Given the description of an element on the screen output the (x, y) to click on. 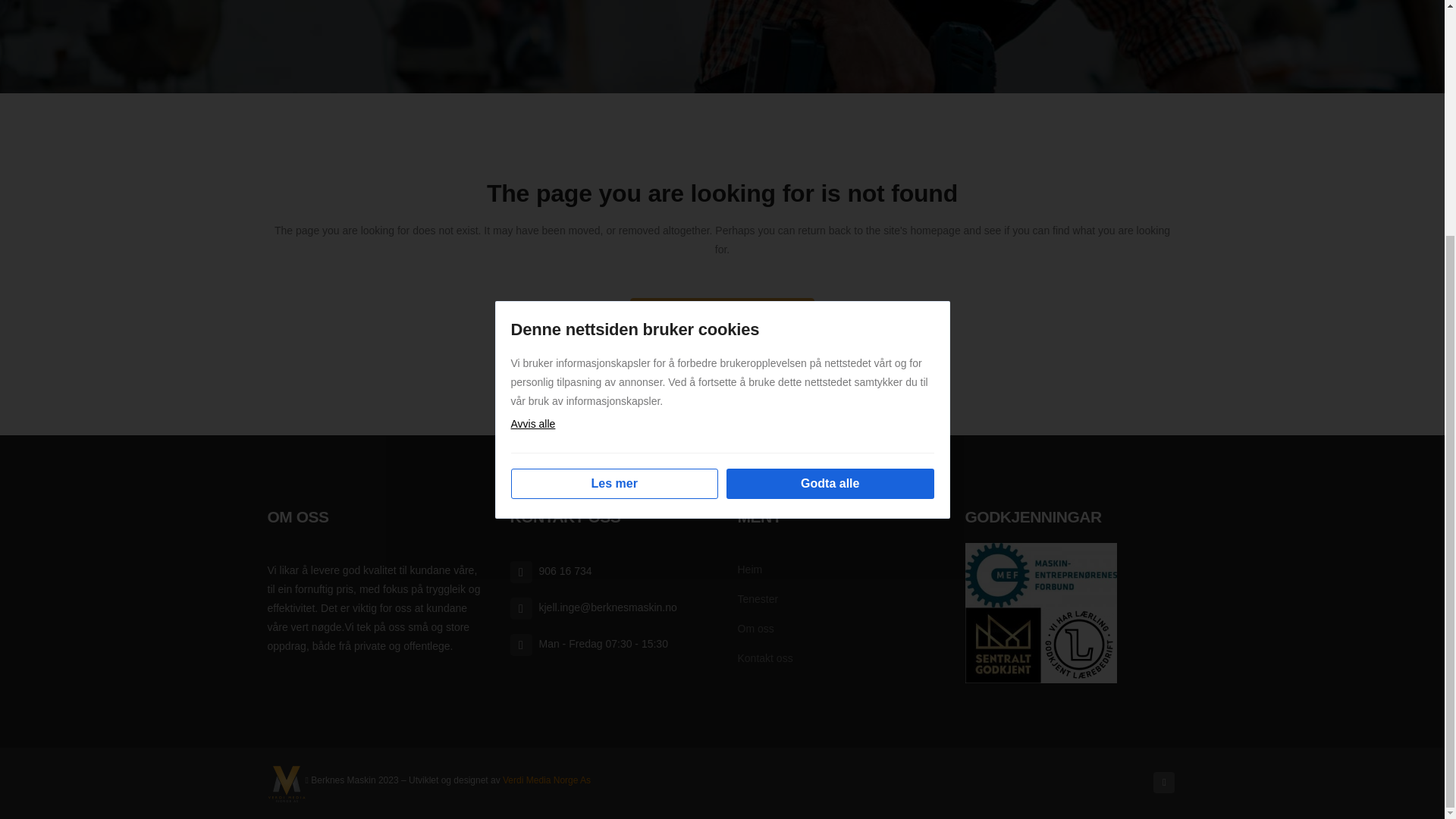
Verdi Media Norge As (546, 779)
Kontakt oss (840, 658)
BACK TO HOMEPAGE (722, 321)
Heim (840, 569)
906 16 734 (611, 571)
Godta alle (829, 163)
Om oss (840, 628)
Les mer (614, 163)
Tenester (840, 598)
